Given the description of an element on the screen output the (x, y) to click on. 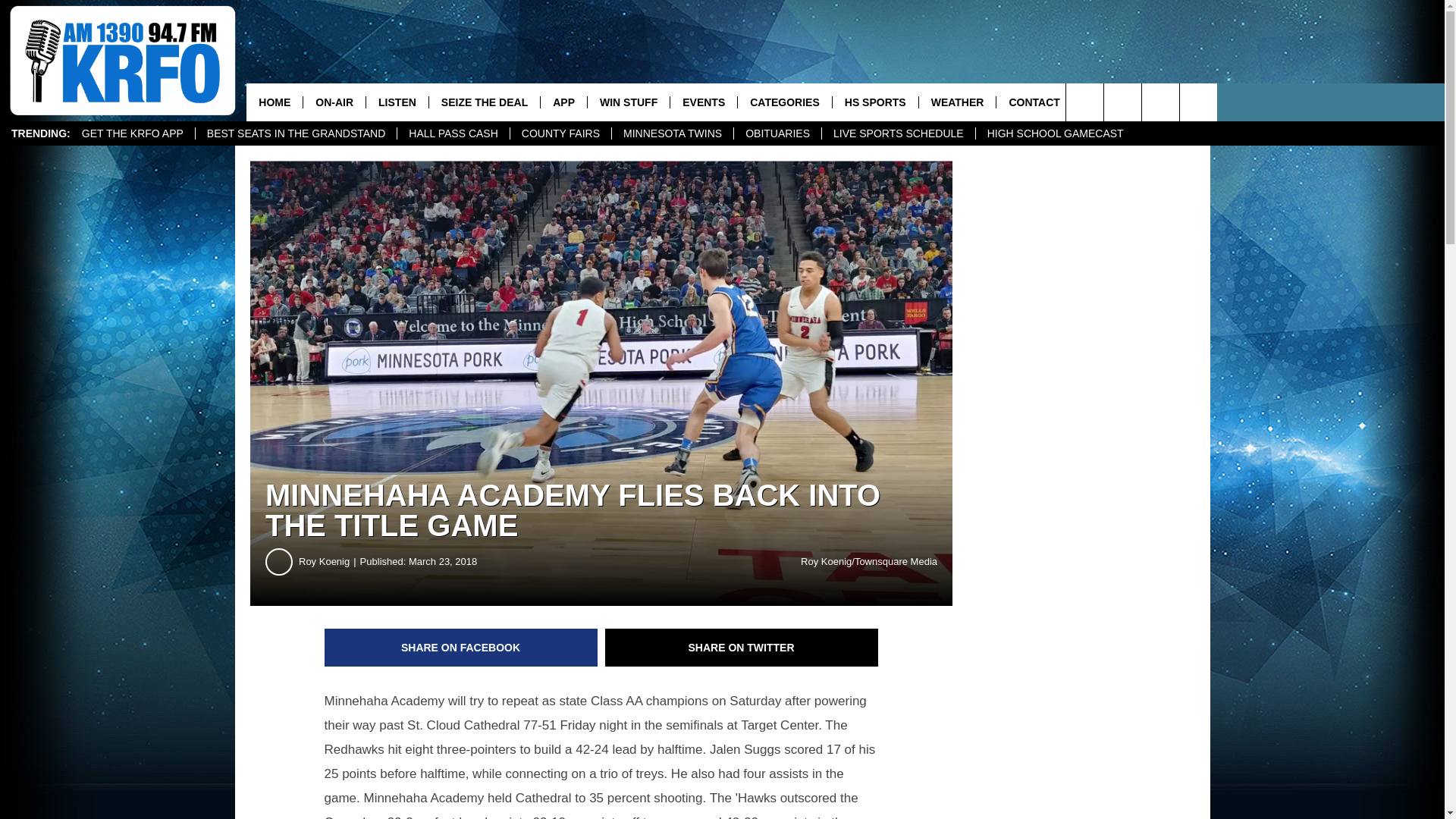
MINNESOTA TWINS (672, 133)
SEIZE THE DEAL (484, 102)
HOME (274, 102)
Share on Twitter (741, 647)
GET THE KRFO APP (132, 133)
LIVE SPORTS SCHEDULE (898, 133)
BEST SEATS IN THE GRANDSTAND (295, 133)
ON-AIR (333, 102)
OBITUARIES (777, 133)
EVENTS (702, 102)
HIGH SCHOOL GAMECAST (1055, 133)
Share on Facebook (460, 647)
COUNTY FAIRS (560, 133)
LISTEN (396, 102)
HALL PASS CASH (452, 133)
